Given the description of an element on the screen output the (x, y) to click on. 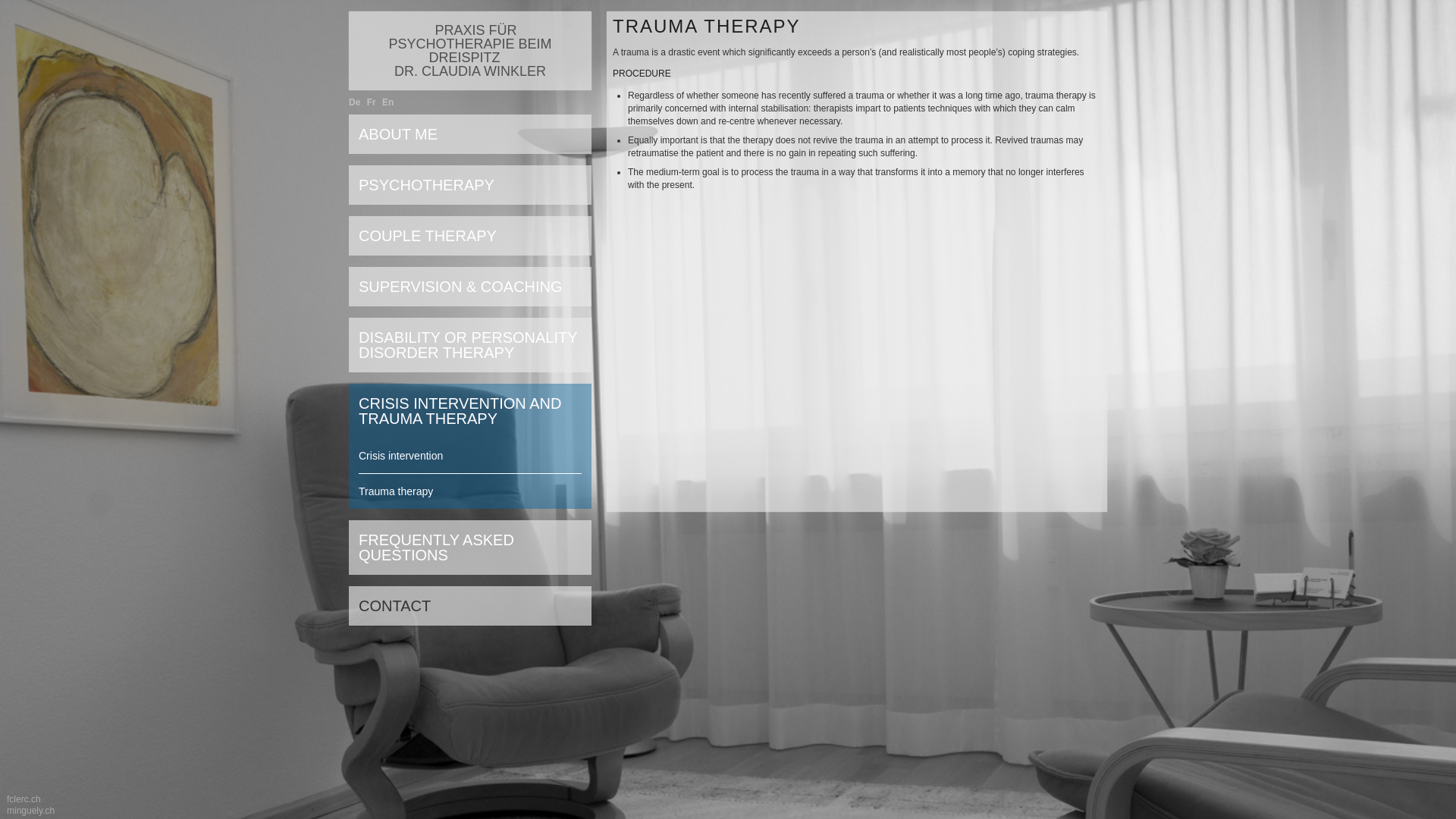
Crisis intervention (469, 455)
CONTACT (469, 605)
De (354, 102)
Trauma therapy (469, 491)
En (387, 102)
